Given the description of an element on the screen output the (x, y) to click on. 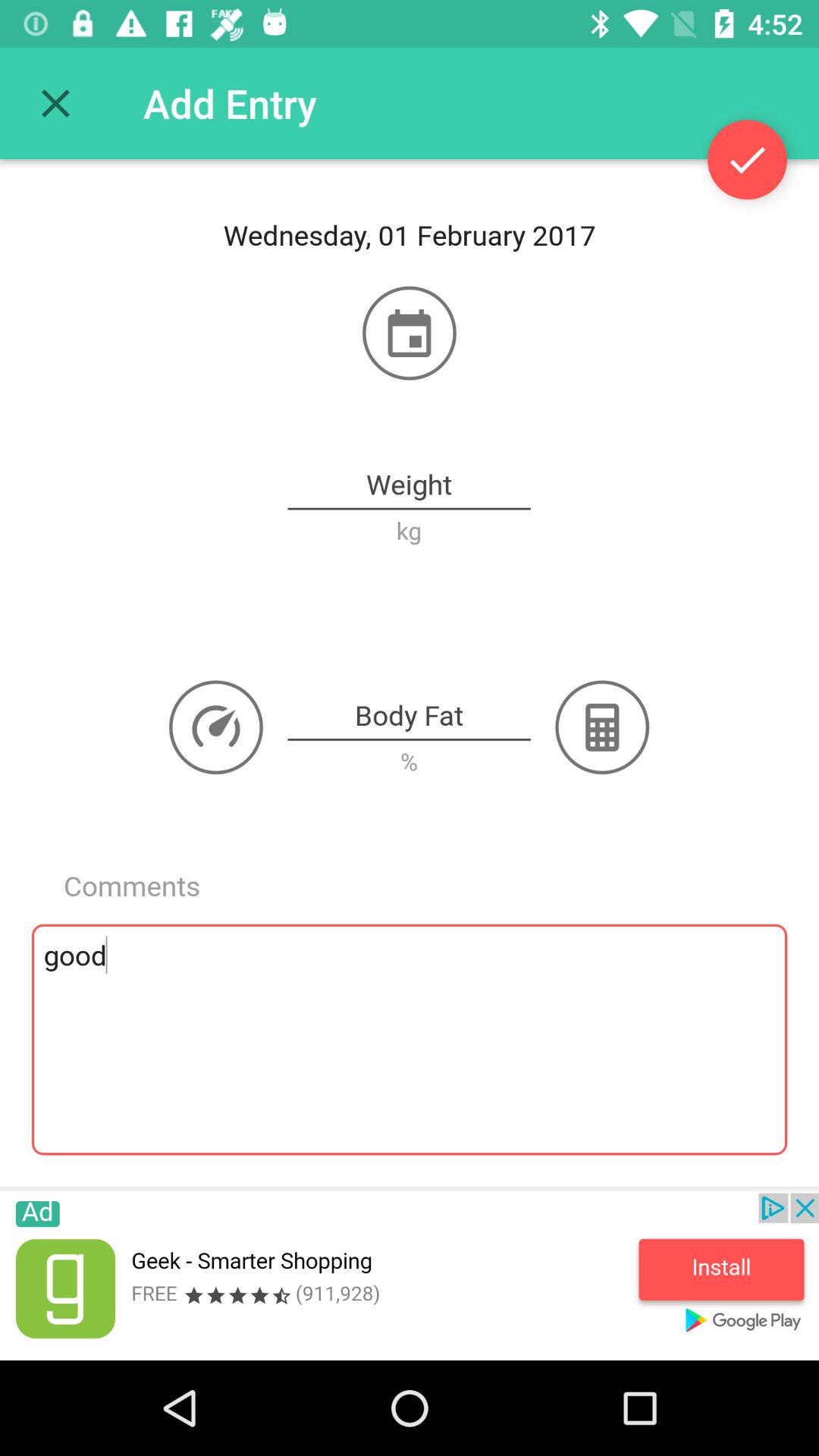
enter body fat value (408, 716)
